Given the description of an element on the screen output the (x, y) to click on. 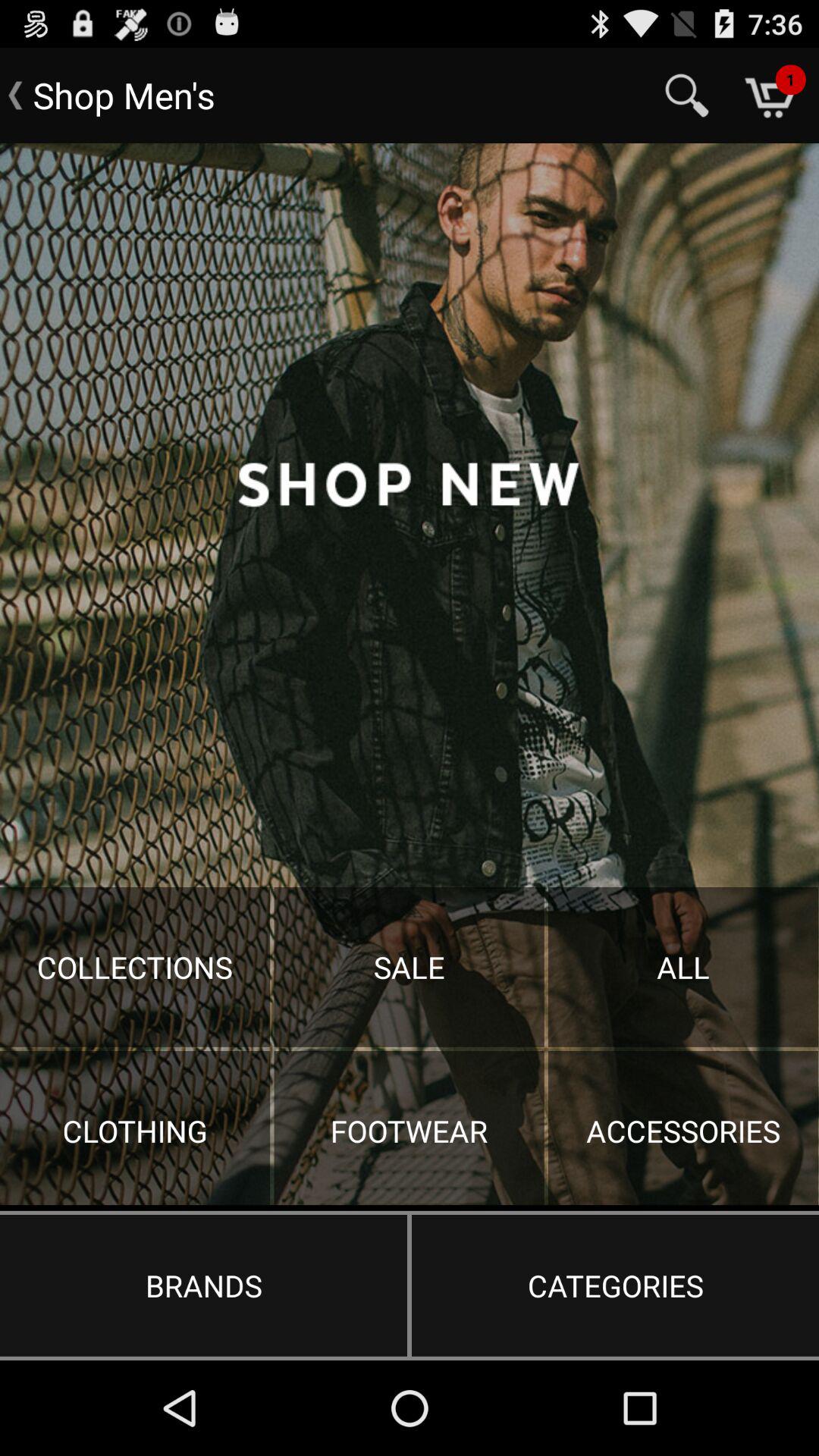
share the article (409, 674)
